Given the description of an element on the screen output the (x, y) to click on. 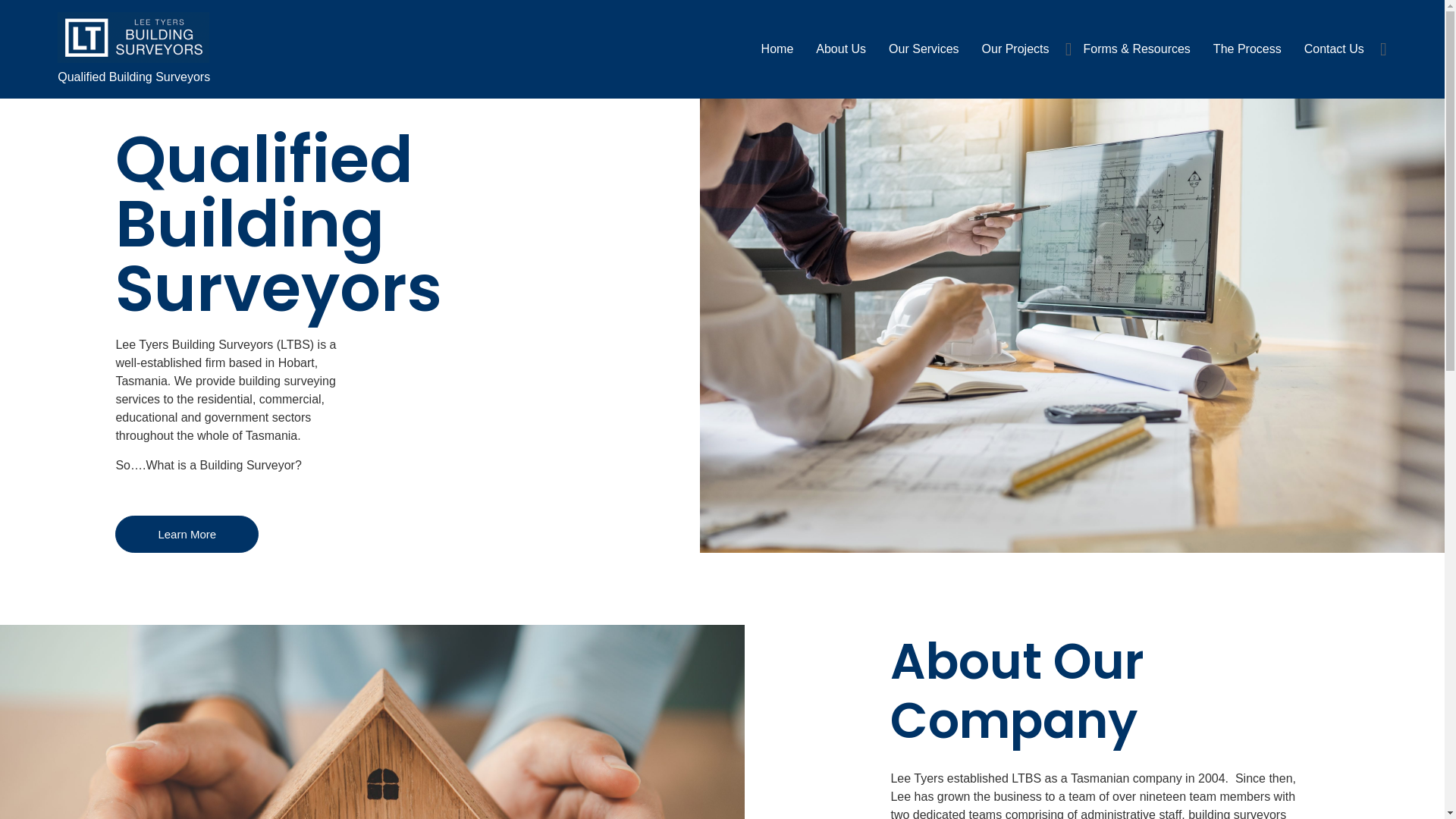
Home Element type: text (722, 122)
Our Services Element type: text (923, 49)
Forms & Resources Element type: text (1136, 49)
Our Projects Element type: text (1015, 49)
About Us Element type: text (840, 49)
Contact Us Element type: text (1333, 49)
Home Element type: text (777, 49)
The Process Element type: text (1246, 49)
Learn More Element type: text (186, 533)
